Given the description of an element on the screen output the (x, y) to click on. 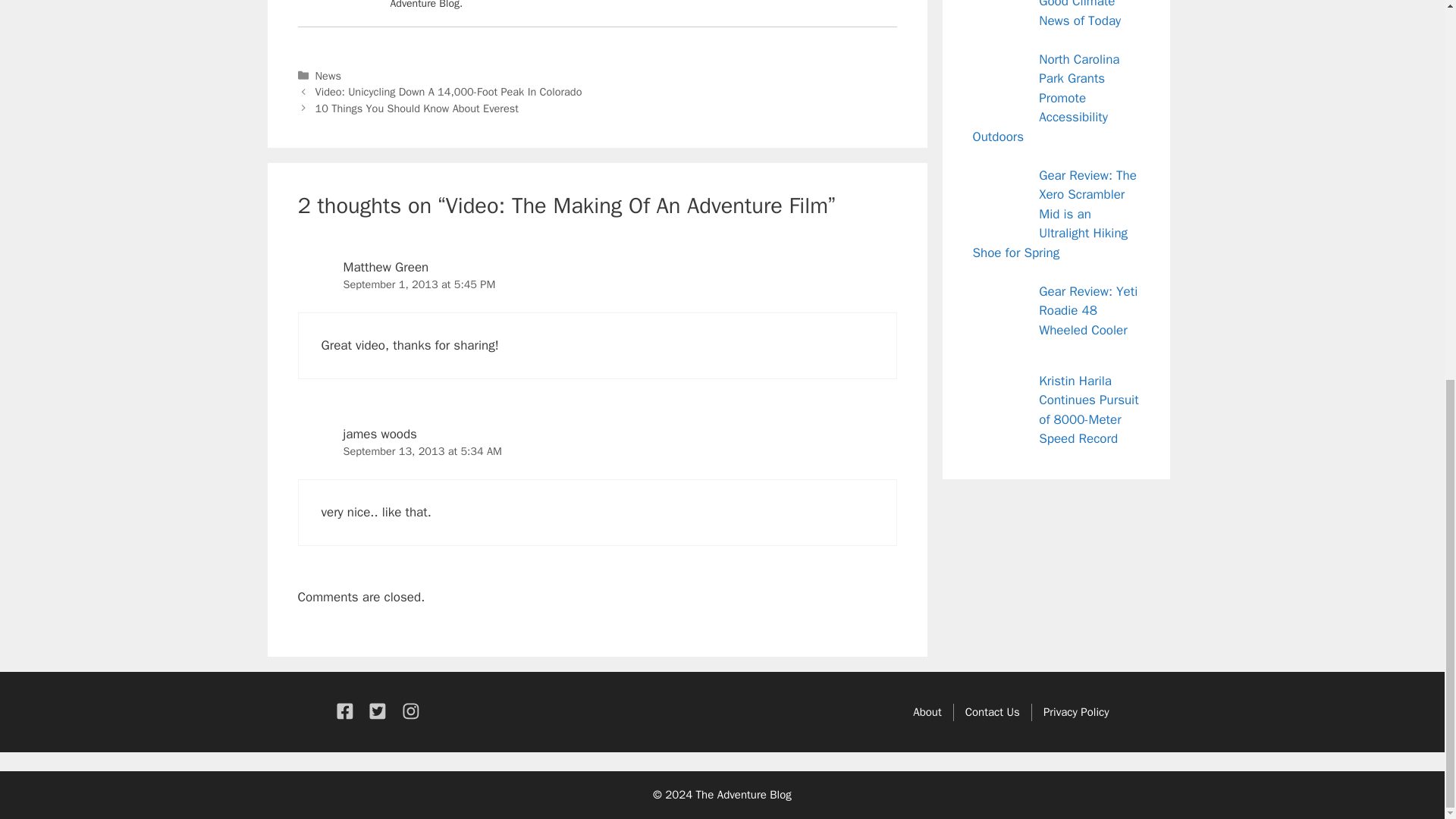
September 1, 2013 at 5:45 PM (418, 284)
10 Things You Should Know About Everest (416, 108)
Earth Day 2023: Celebrating the Good Climate News of Today (1085, 14)
News (327, 75)
September 13, 2013 at 5:34 AM (421, 450)
Video: Unicycling Down A 14,000-Foot Peak In Colorado (448, 91)
